Given the description of an element on the screen output the (x, y) to click on. 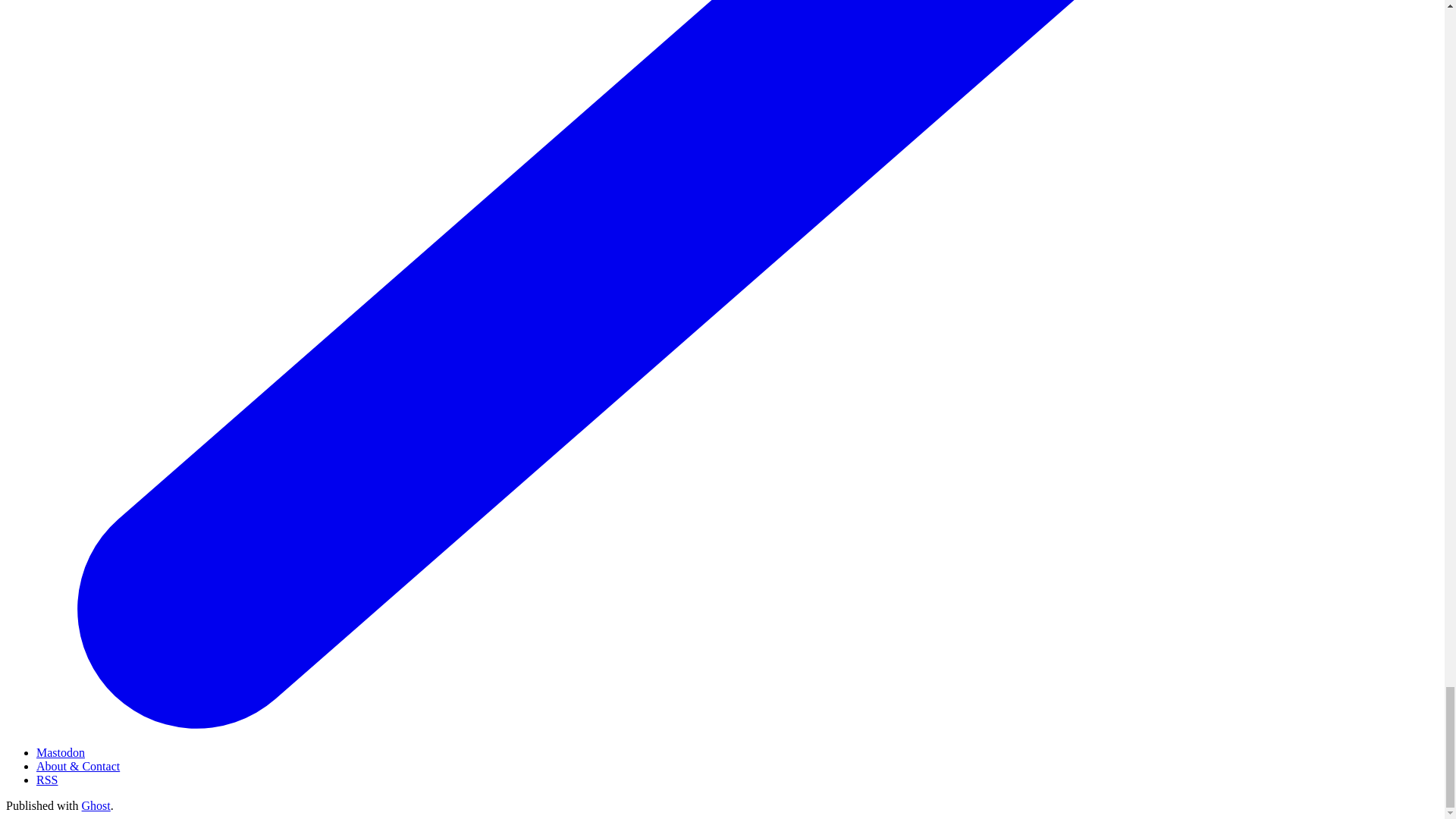
RSS (47, 779)
Mastodon (60, 752)
Ghost (95, 805)
